Given the description of an element on the screen output the (x, y) to click on. 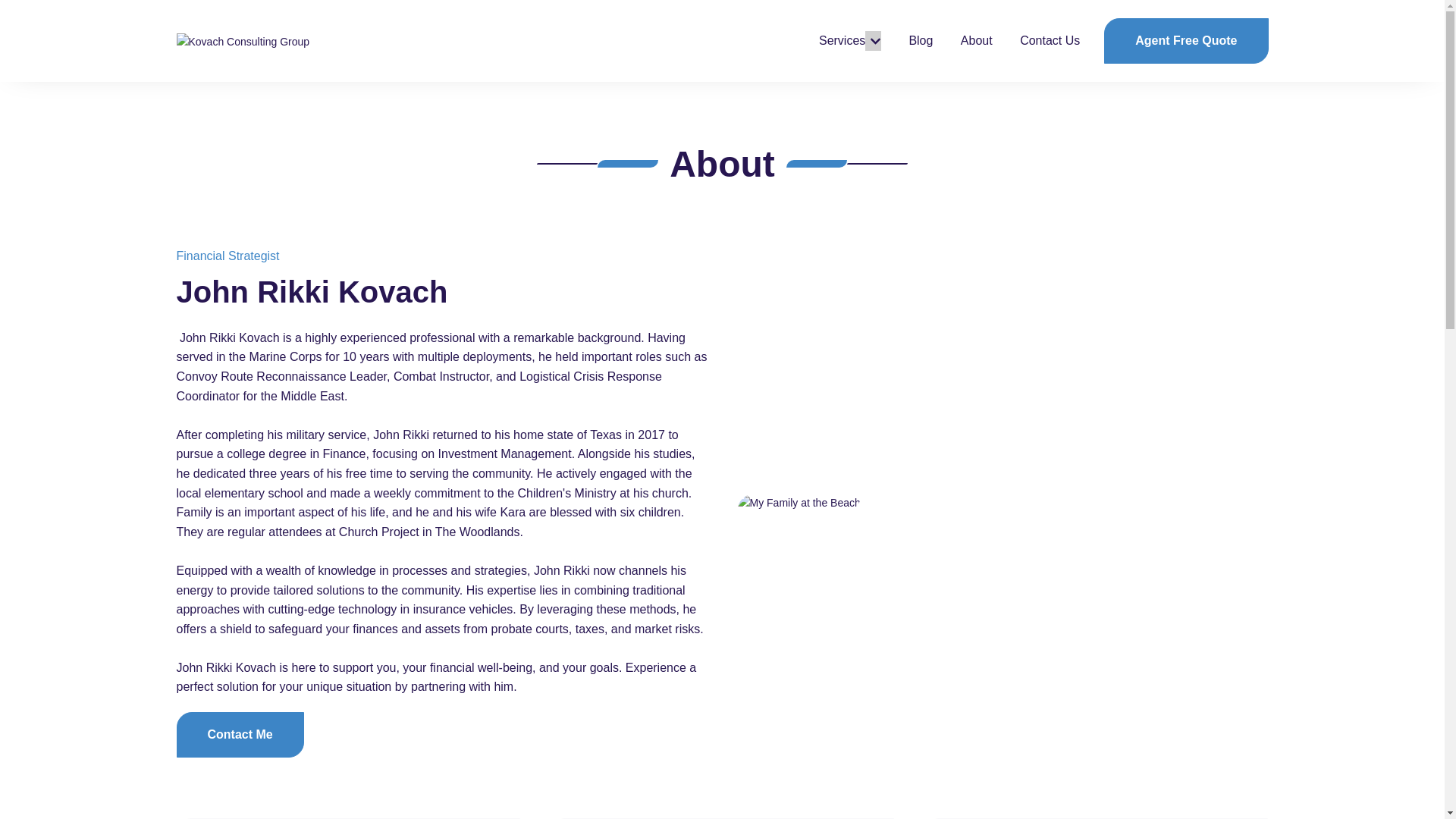
Blog (920, 40)
Services (841, 40)
Show submenu for Services (872, 40)
Contact Us (1050, 40)
Contact Me (239, 734)
About (976, 40)
Agent Free Quote (1185, 40)
